Given the description of an element on the screen output the (x, y) to click on. 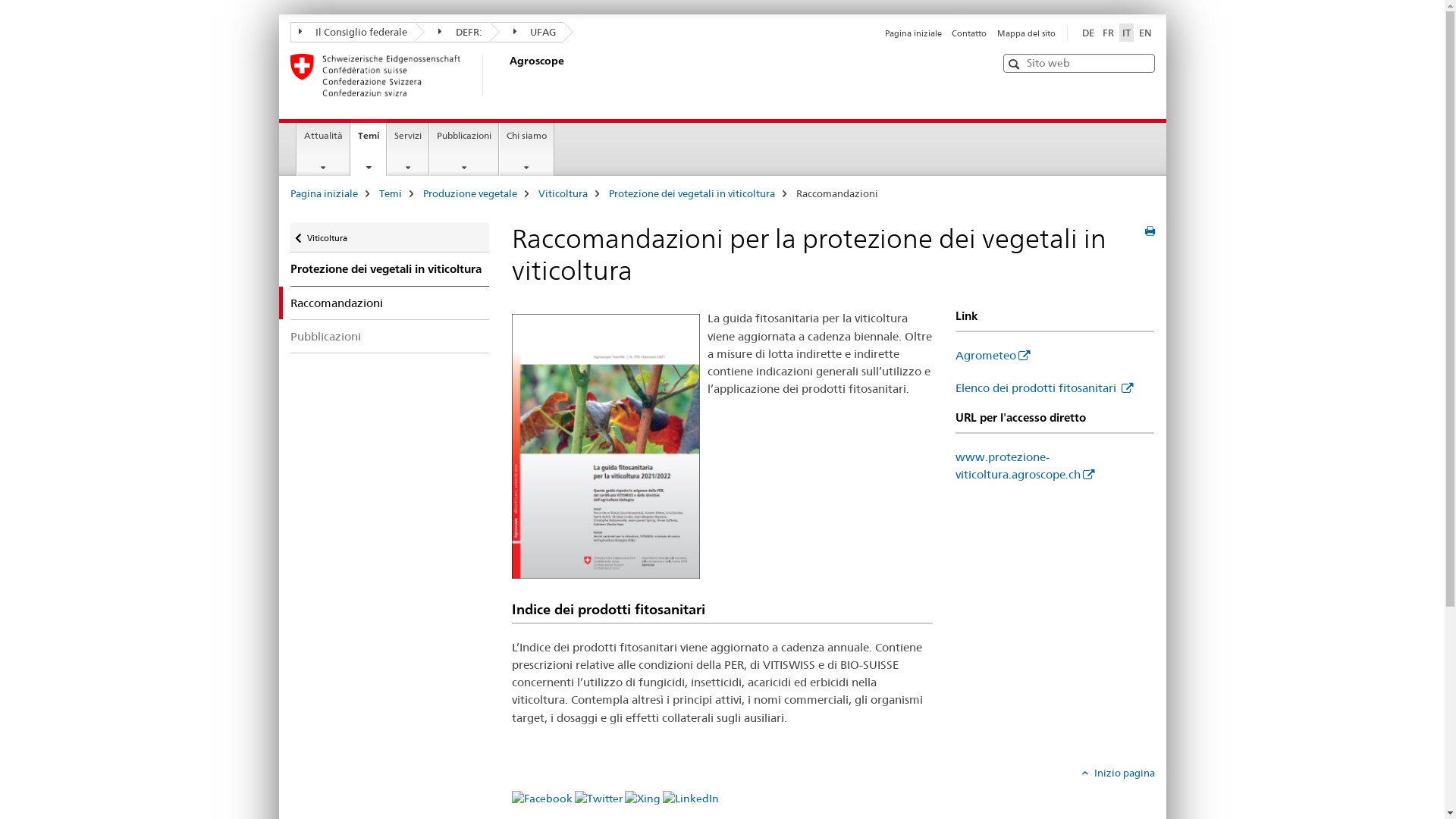
Produzione vegetale Element type: text (470, 193)
Pubblicazioni Element type: text (463, 148)
Servizi Element type: text (407, 148)
Viticoltura Element type: text (562, 193)
Protezione dei vegetali in viticoltura Element type: text (691, 193)
Stampa la pagina Element type: hover (1149, 230)
EN Element type: text (1144, 32)
DE Element type: text (1087, 32)
Temi
current page Element type: text (368, 147)
Pubblicazioni Element type: text (389, 336)
Pagina iniziale Element type: text (323, 193)
Elenco dei prodotti fitosanitari Element type: text (1043, 387)
Mappa del sito Element type: text (1025, 33)
Ritorna a
Viticoltura Element type: text (389, 237)
Agroscope Element type: text (505, 74)
IT Element type: text (1126, 32)
Contatto Element type: text (968, 33)
DEFR: Element type: text (451, 31)
UFAG Element type: text (526, 31)
Inizio pagina Element type: text (1117, 772)
Protezione dei vegetali in viticoltura Element type: text (389, 268)
www.protezione-viticoltura.agroscope.ch Element type: text (1024, 465)
Pagina iniziale Element type: text (912, 33)
Temi Element type: text (390, 193)
Chi siamo Element type: text (526, 148)
Agrometeo Element type: text (992, 355)
Il Consiglio federale Element type: text (351, 31)
FR Element type: text (1108, 32)
